Given the description of an element on the screen output the (x, y) to click on. 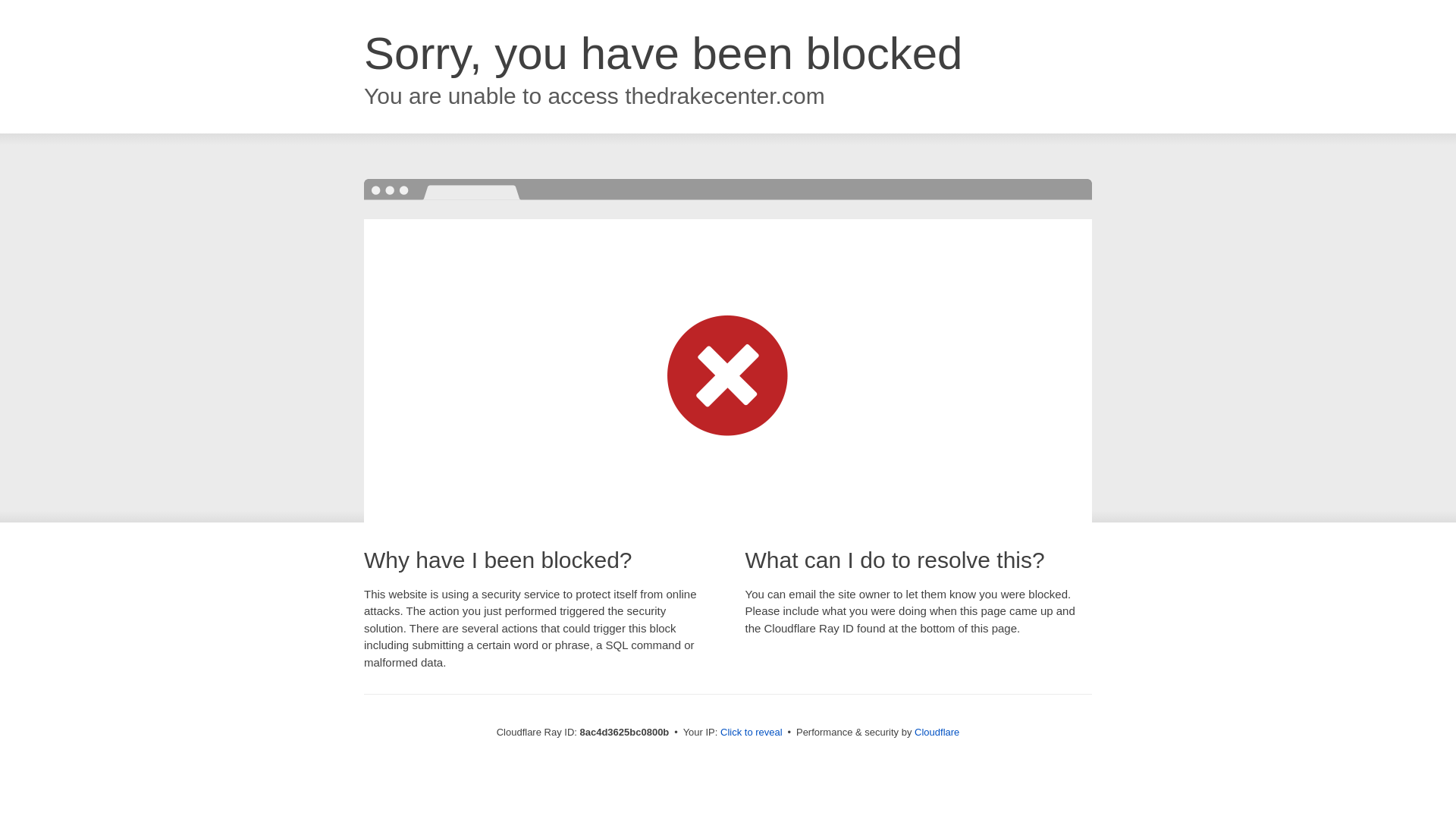
Click to reveal (746, 732)
Cloudflare (932, 731)
